Given the description of an element on the screen output the (x, y) to click on. 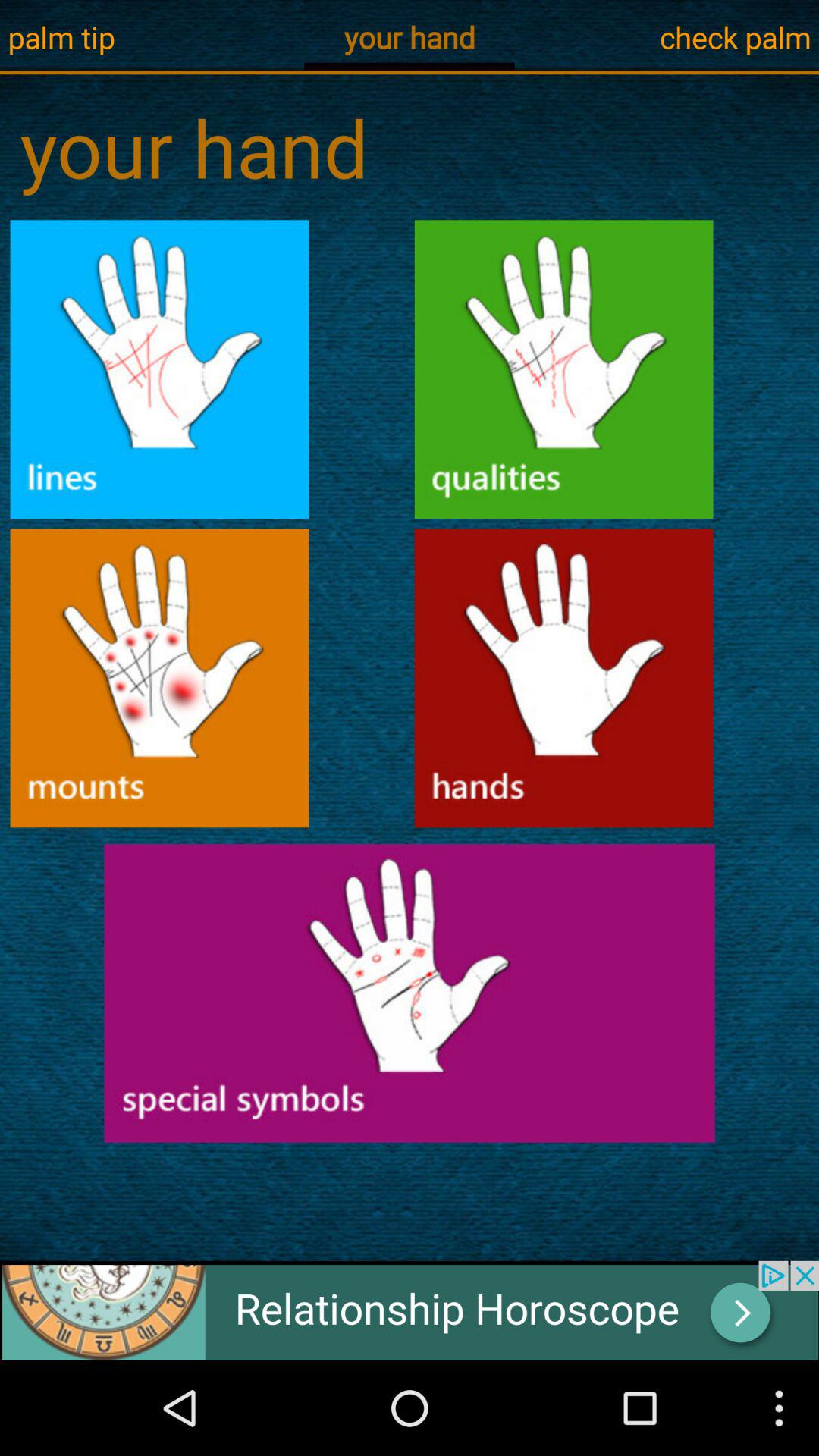
lines (159, 369)
